Given the description of an element on the screen output the (x, y) to click on. 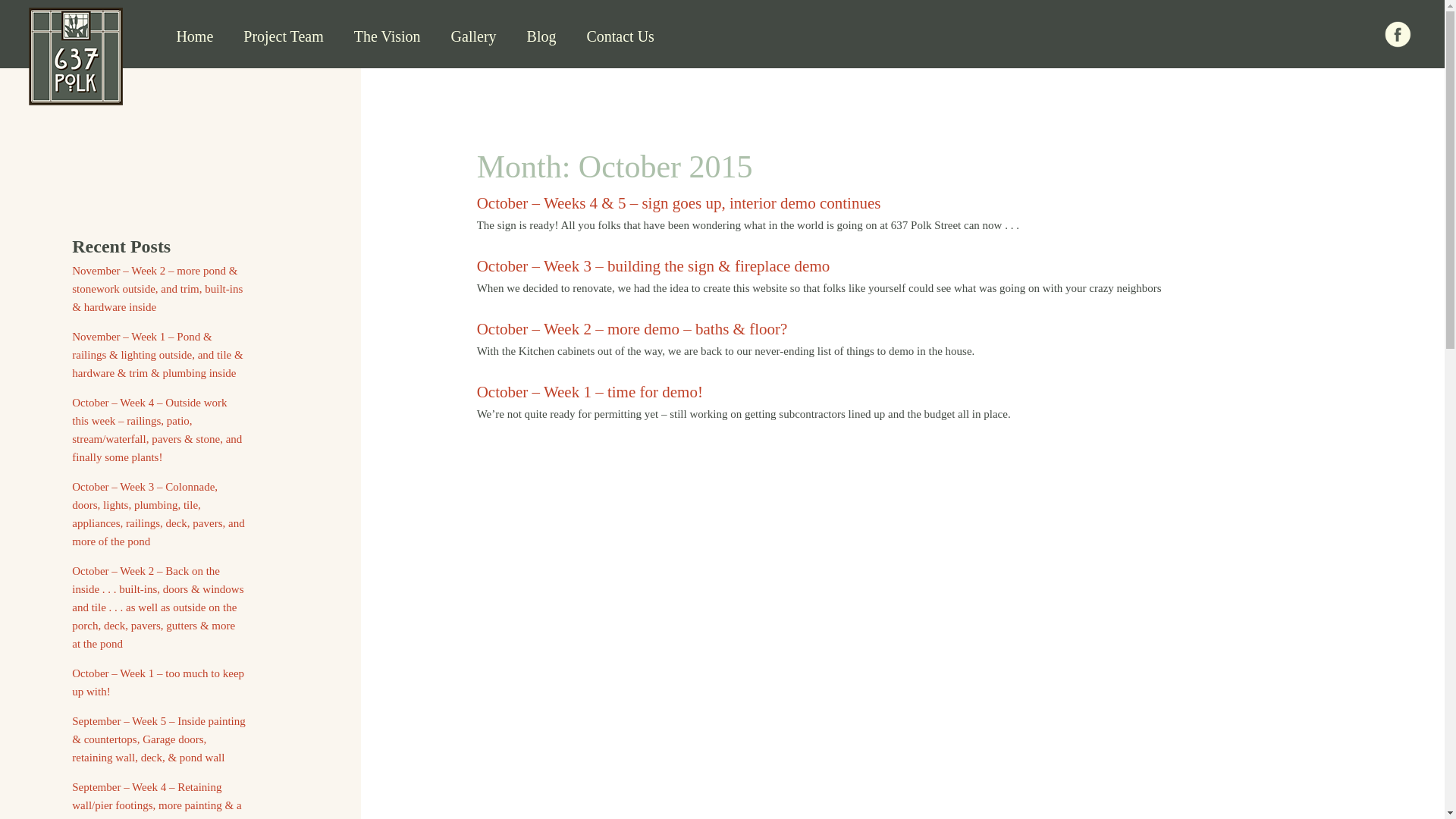
Home (190, 37)
Blog (537, 37)
Gallery (470, 37)
Contact Us (615, 37)
facebook (1397, 34)
Project Team (279, 37)
The Vision (383, 37)
logo (76, 56)
